Given the description of an element on the screen output the (x, y) to click on. 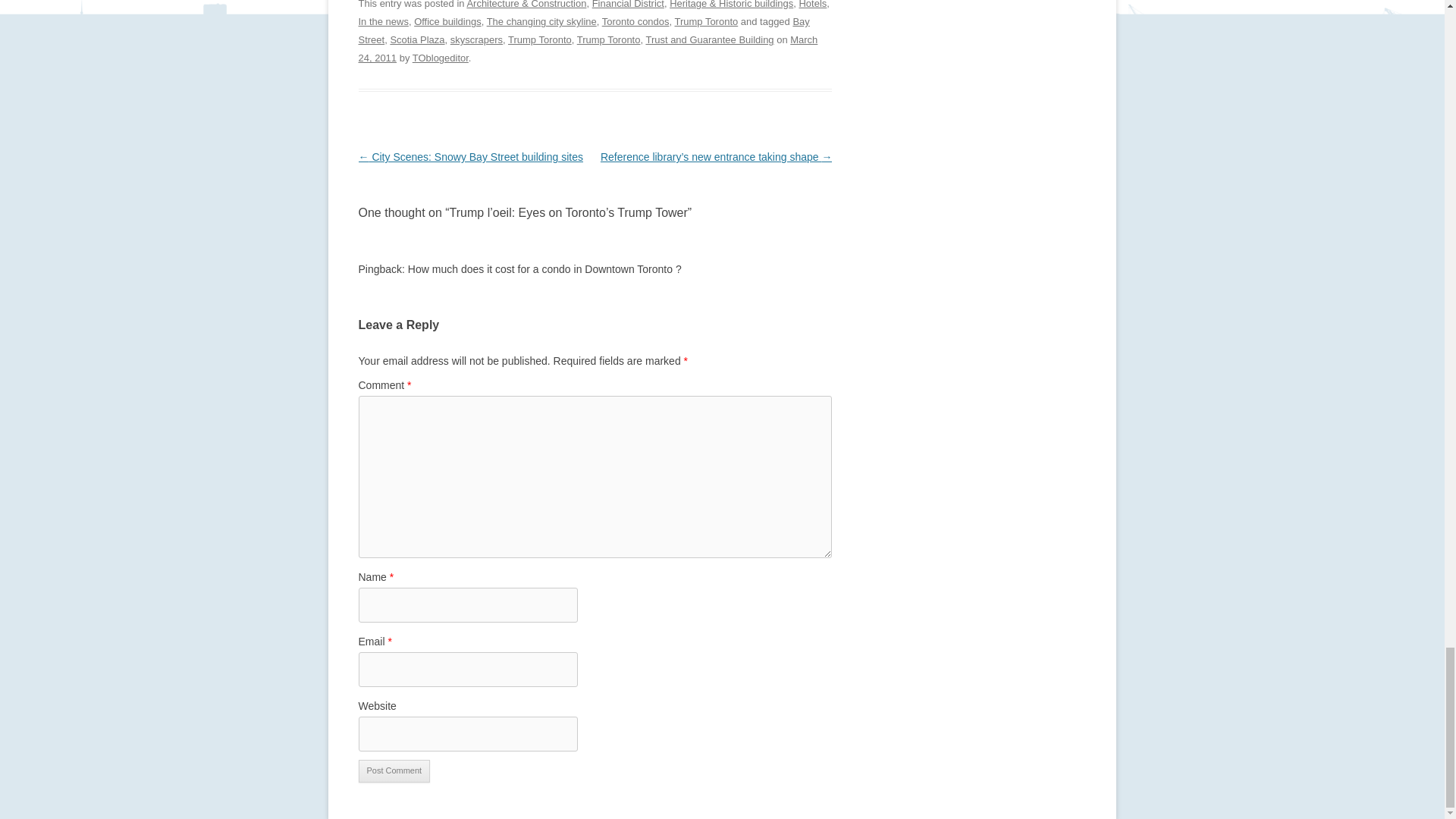
Post Comment (393, 771)
